Given the description of an element on the screen output the (x, y) to click on. 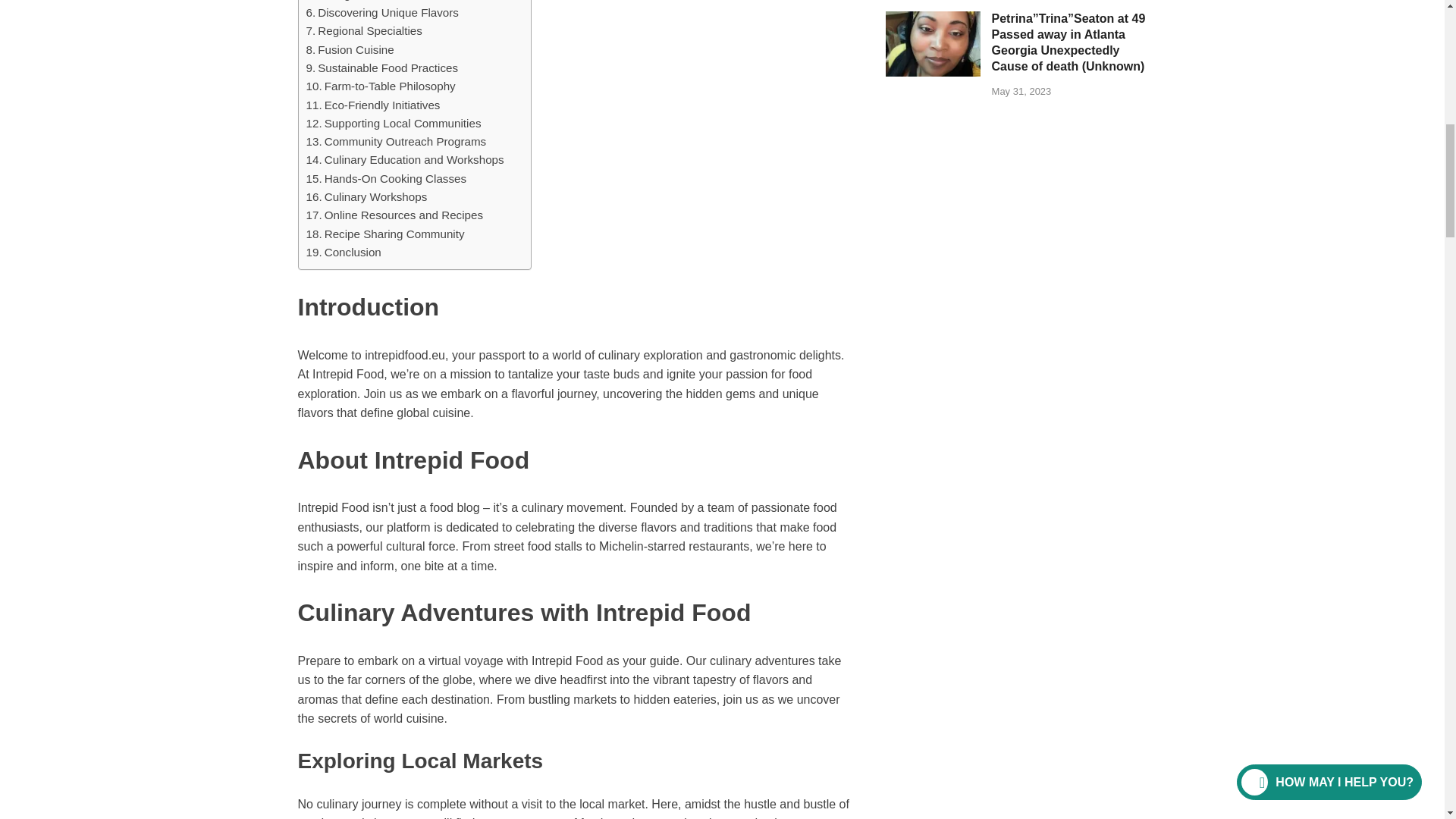
Dining Off the Beaten Path (379, 2)
Community Outreach Programs (395, 141)
Hands-On Cooking Classes (386, 178)
Eco-Friendly Initiatives (373, 105)
Fusion Cuisine (349, 49)
Supporting Local Communities (393, 123)
Sustainable Food Practices (381, 67)
Discovering Unique Flavors (381, 13)
Regional Specialties (363, 31)
Culinary Education and Workshops (404, 159)
Farm-to-Table Philosophy (380, 85)
Culinary Workshops (366, 197)
